Given the description of an element on the screen output the (x, y) to click on. 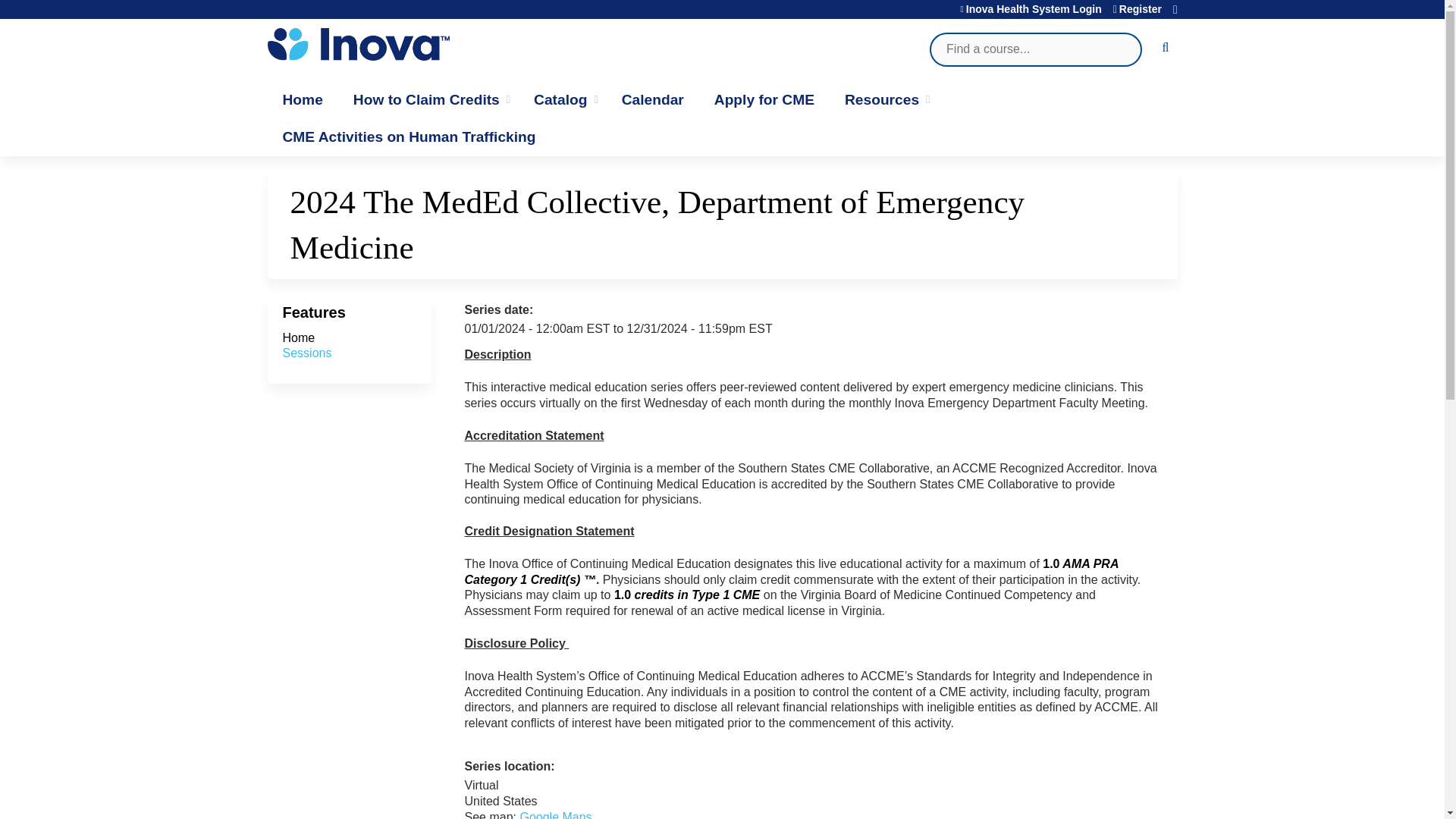
Register (1137, 9)
Home (301, 99)
Inova Health System Login (1029, 9)
Search (1161, 49)
Search (1161, 49)
Home (403, 43)
How to Claim Credits (427, 99)
Cart (1175, 14)
